Given the description of an element on the screen output the (x, y) to click on. 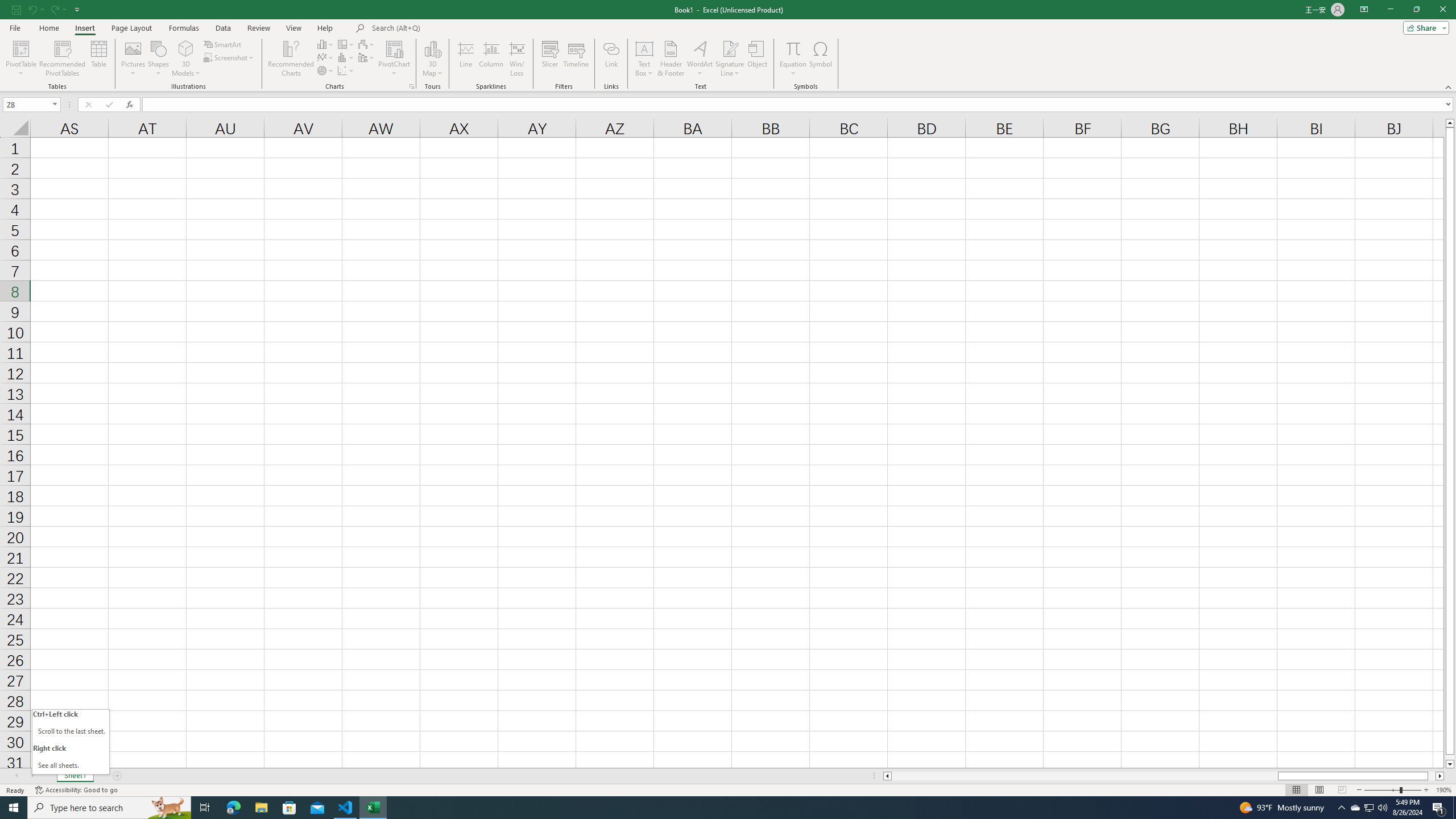
Line (465, 58)
Insert Hierarchy Chart (346, 44)
Accessibility Checker Accessibility: Good to go (76, 790)
Symbol... (821, 58)
Page left (1084, 775)
Ribbon Display Options (1364, 9)
3D Map (432, 48)
Page Break Preview (1342, 790)
Timeline (575, 58)
Equation (793, 58)
Header & Footer... (670, 58)
Shapes (158, 58)
Share (1423, 27)
